Given the description of an element on the screen output the (x, y) to click on. 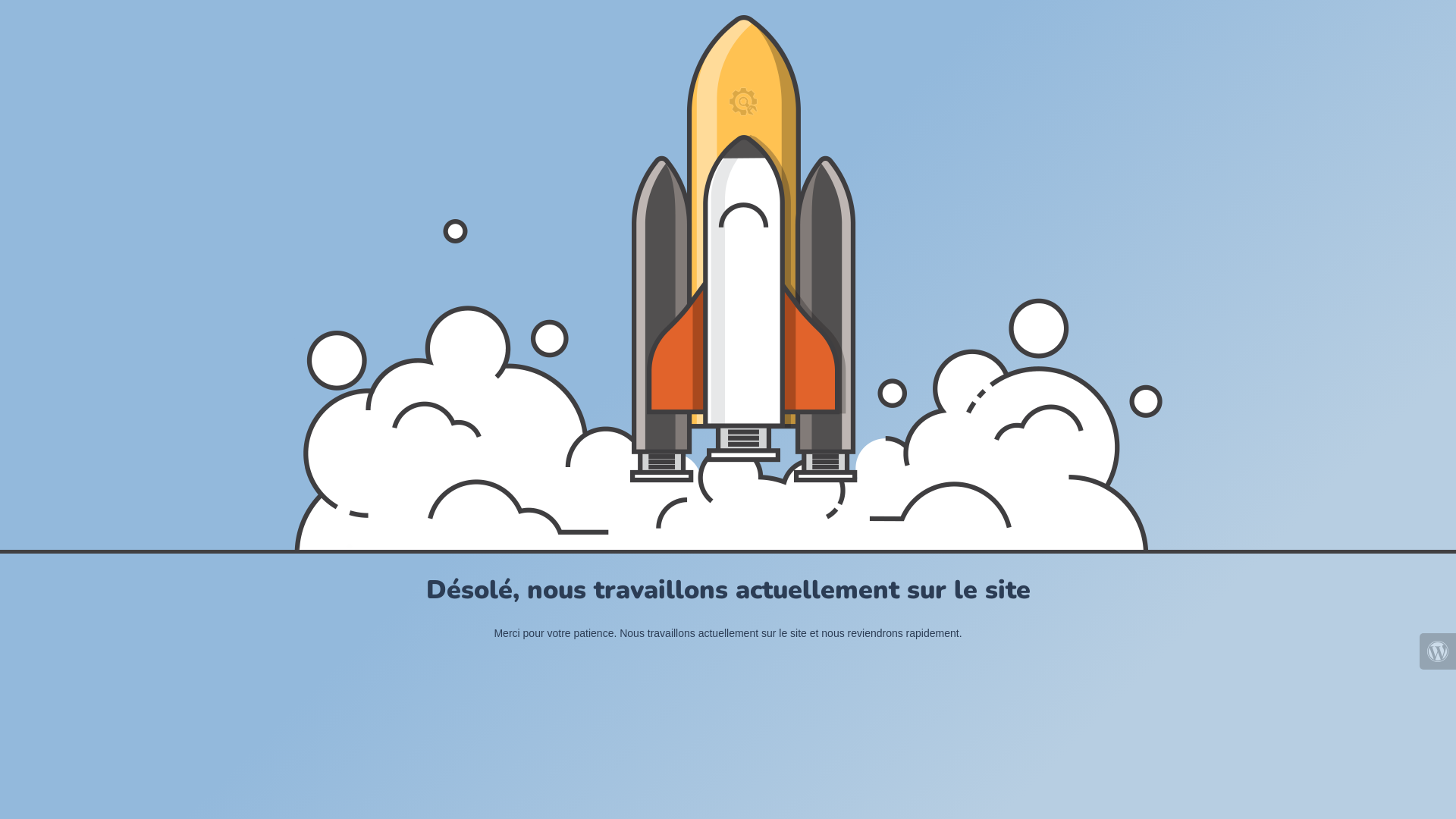
Rocket Launch Element type: hover (728, 282)
